Given the description of an element on the screen output the (x, y) to click on. 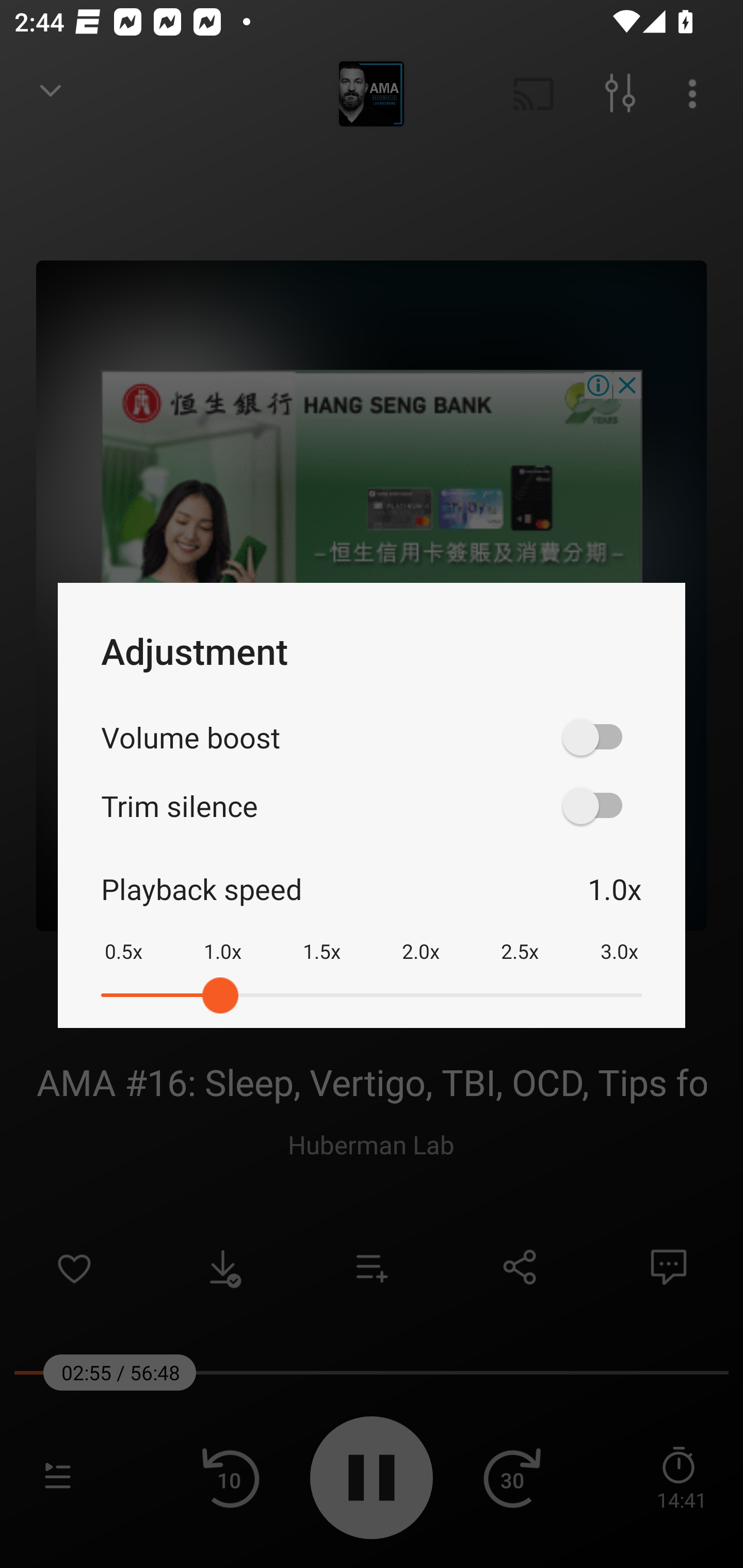
0.5x (123, 937)
1.0x (222, 937)
1.5x (321, 937)
2.0x (420, 937)
2.5x (519, 937)
3.0x (618, 937)
